Given the description of an element on the screen output the (x, y) to click on. 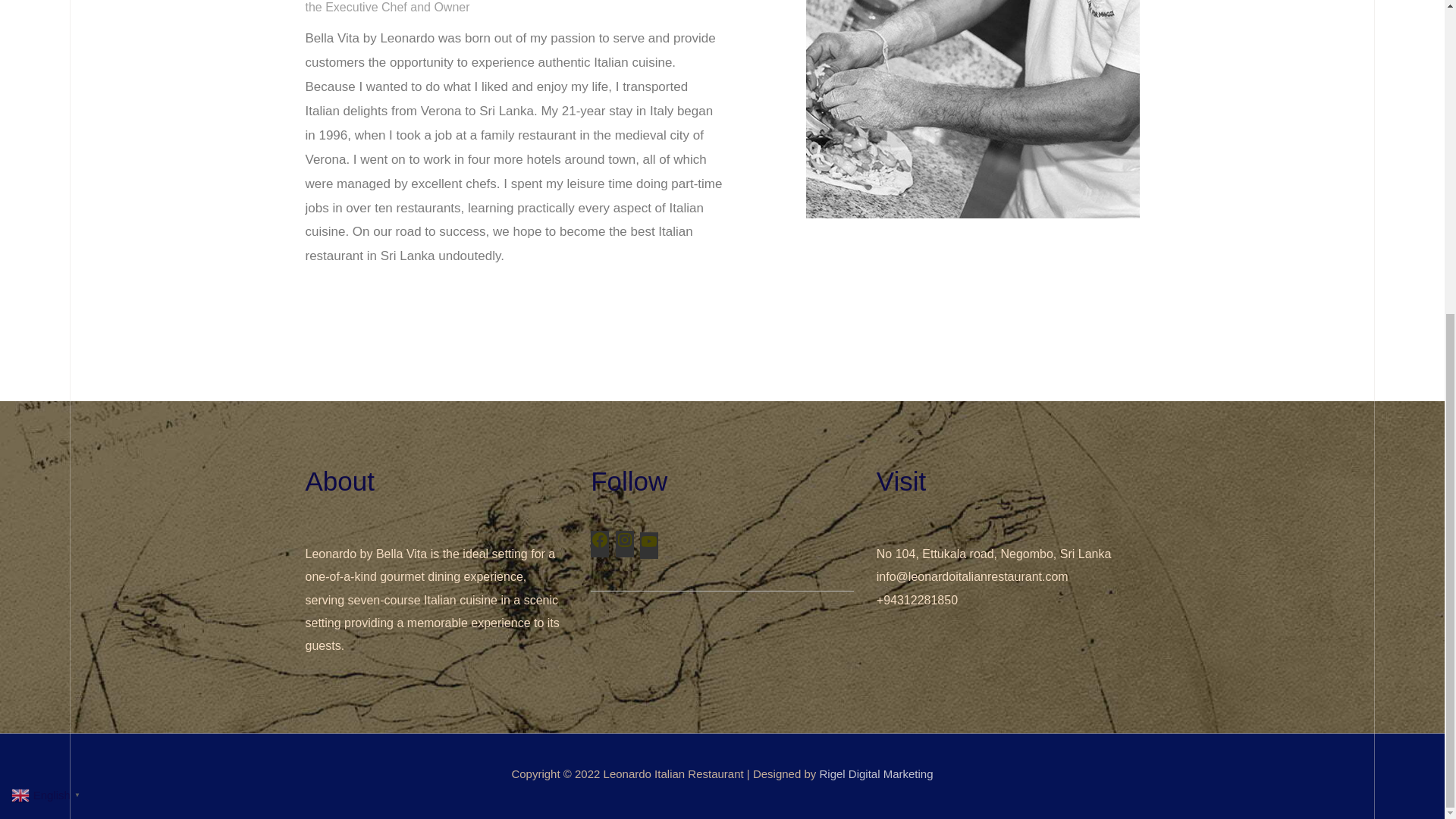
Rigel Digital Marketing (875, 773)
